Given the description of an element on the screen output the (x, y) to click on. 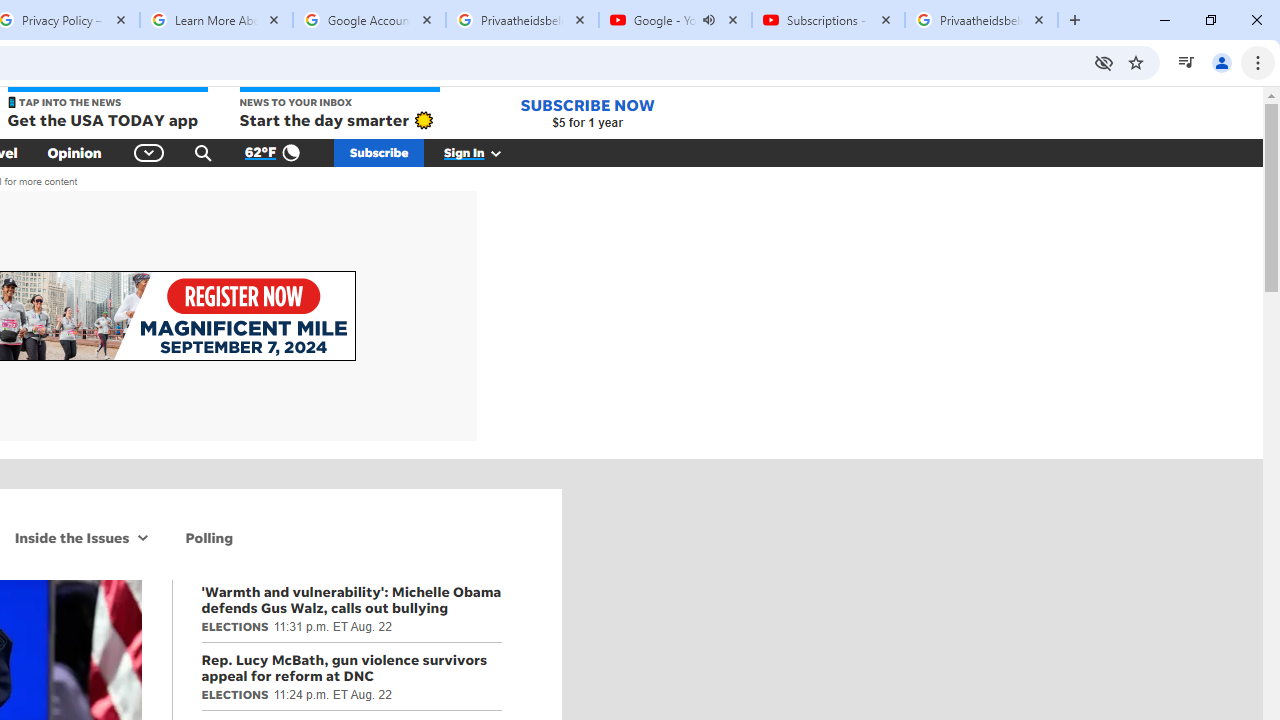
Google - YouTube - Audio playing (675, 20)
Opinion (74, 152)
Polling (209, 537)
SUBSCRIBE NOW $5 for 1 year (587, 112)
Google Account (369, 20)
More Inside the Issues navigation (143, 537)
Control your music, videos, and more (1185, 62)
